Given the description of an element on the screen output the (x, y) to click on. 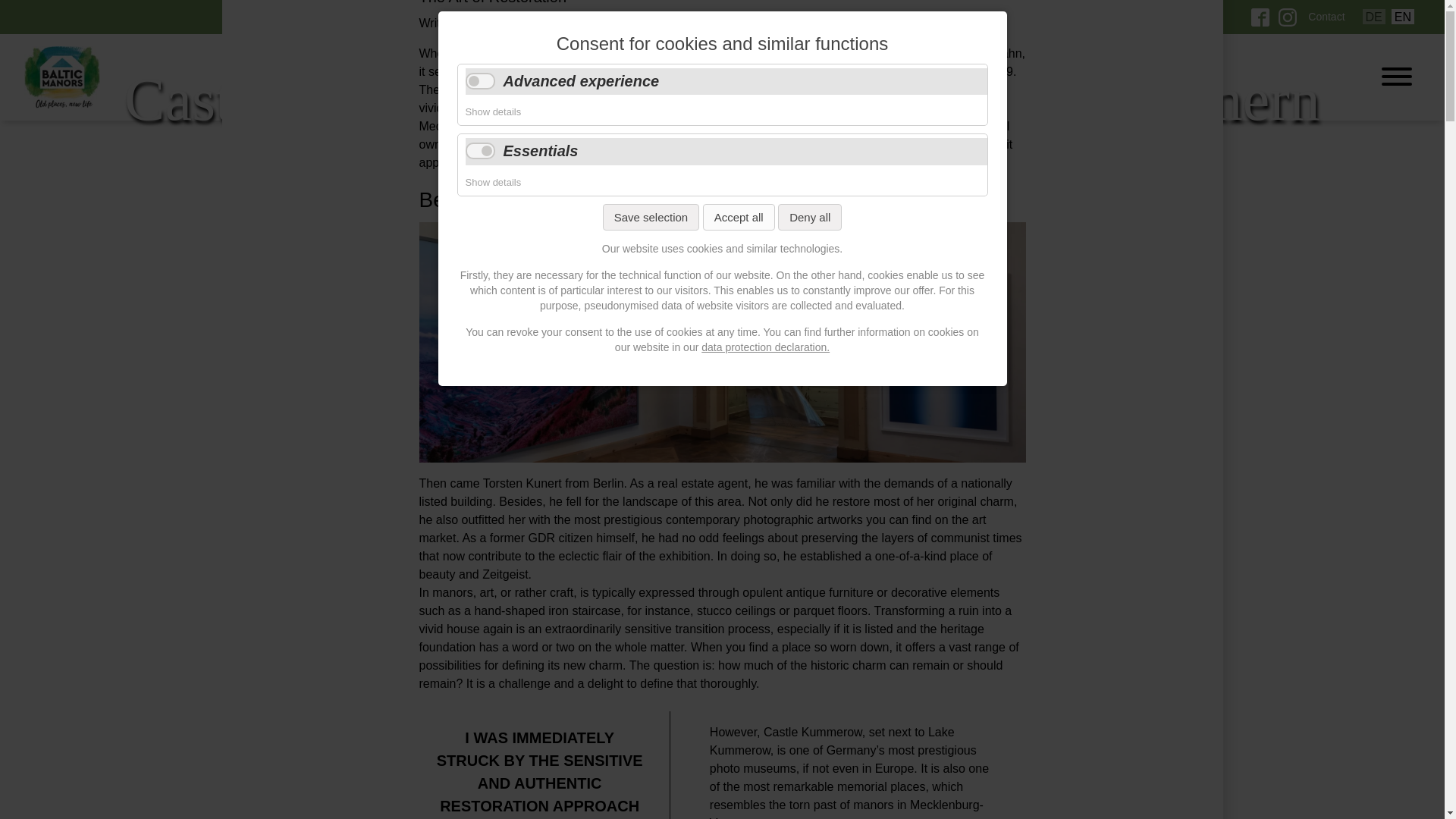
Instragram (1287, 21)
Contact (1325, 16)
instagram (1287, 21)
DE (1374, 16)
instagram (1287, 17)
Facebook (1259, 21)
Schloss Kummerow in Mecklenburg-Vorpommern (1374, 16)
Contact (1325, 16)
